Given the description of an element on the screen output the (x, y) to click on. 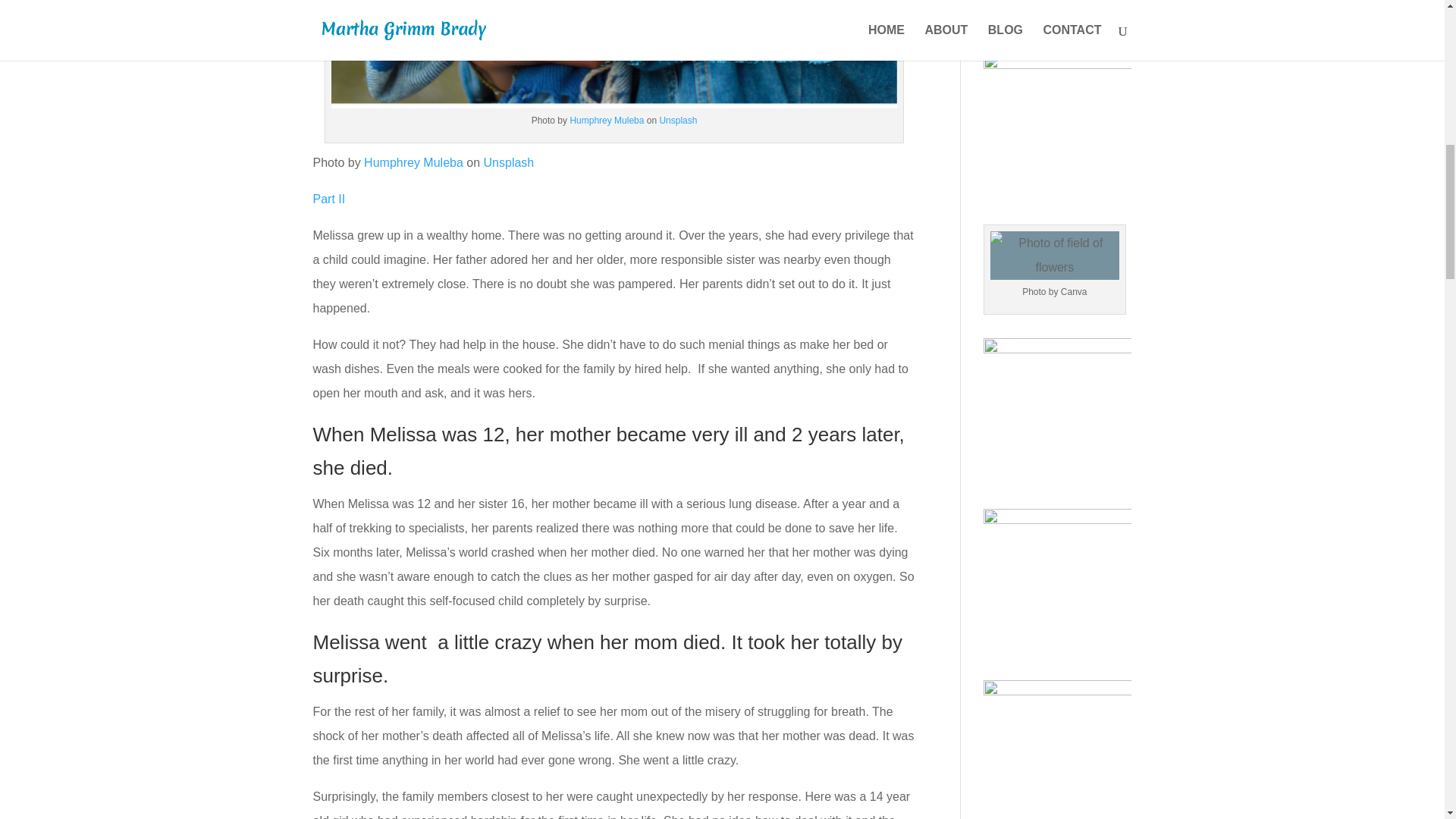
Humphrey Muleba (413, 162)
Unsplash (508, 162)
Humphrey Muleba (606, 120)
Part II (329, 198)
Unsplash (678, 120)
